Given the description of an element on the screen output the (x, y) to click on. 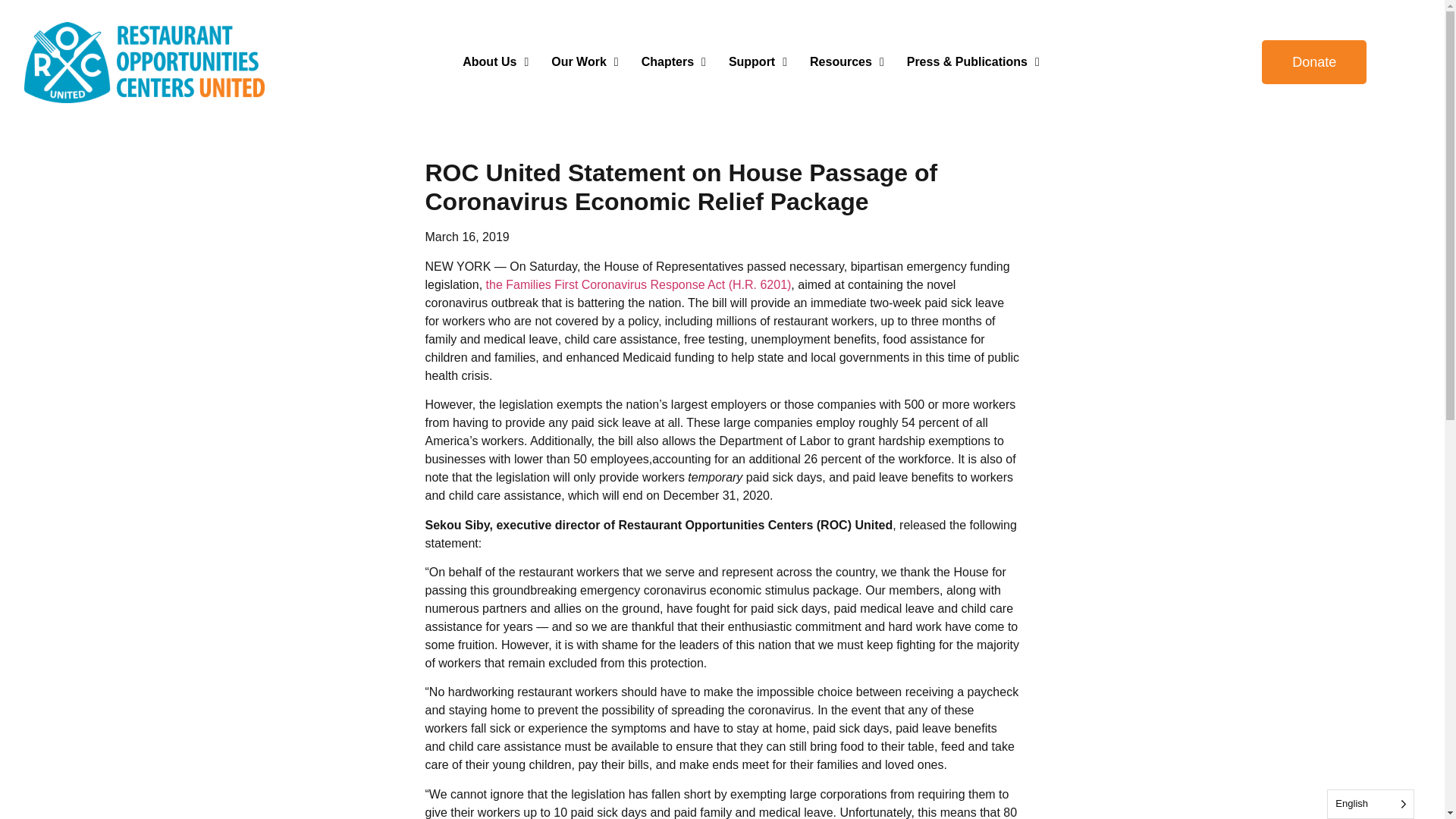
Chapters (673, 61)
Support (757, 61)
About Us (495, 61)
Our Work (584, 61)
Resources (846, 61)
